Given the description of an element on the screen output the (x, y) to click on. 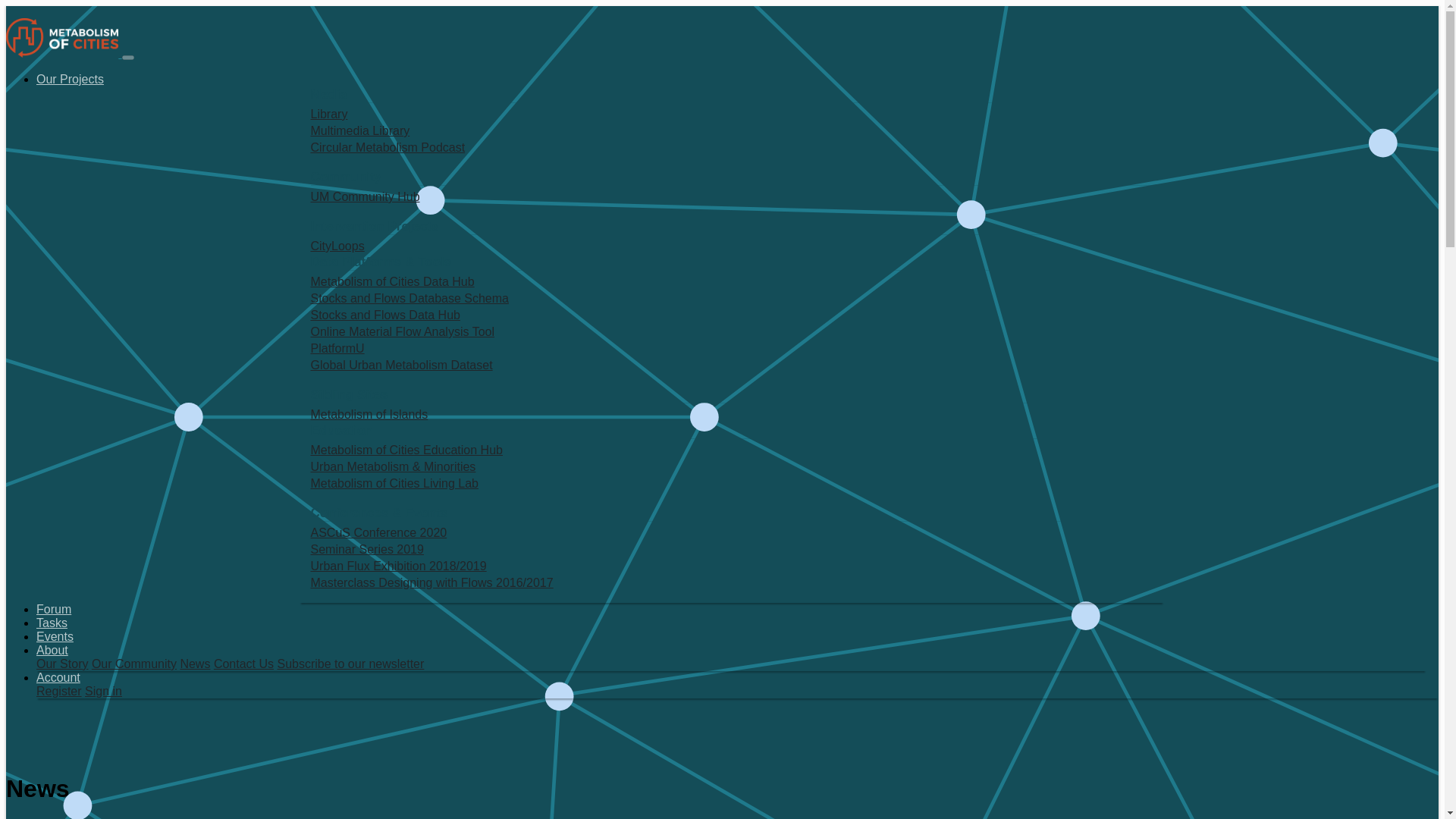
Subscribe to our newsletter (349, 663)
Contact Us (243, 663)
Metabolism of Cities Education Hub (732, 450)
Online Material Flow Analysis Tool (732, 331)
Metabolism of Cities Data Hub (732, 281)
ASCuS Conference 2020 (732, 532)
Our Story (61, 663)
Register (58, 690)
Account (58, 676)
Stocks and Flows Data Hub (732, 315)
Sign in (103, 690)
CityLoops (732, 246)
News (194, 663)
PlatformU (732, 348)
Metabolism of Cities Living Lab (732, 483)
